Given the description of an element on the screen output the (x, y) to click on. 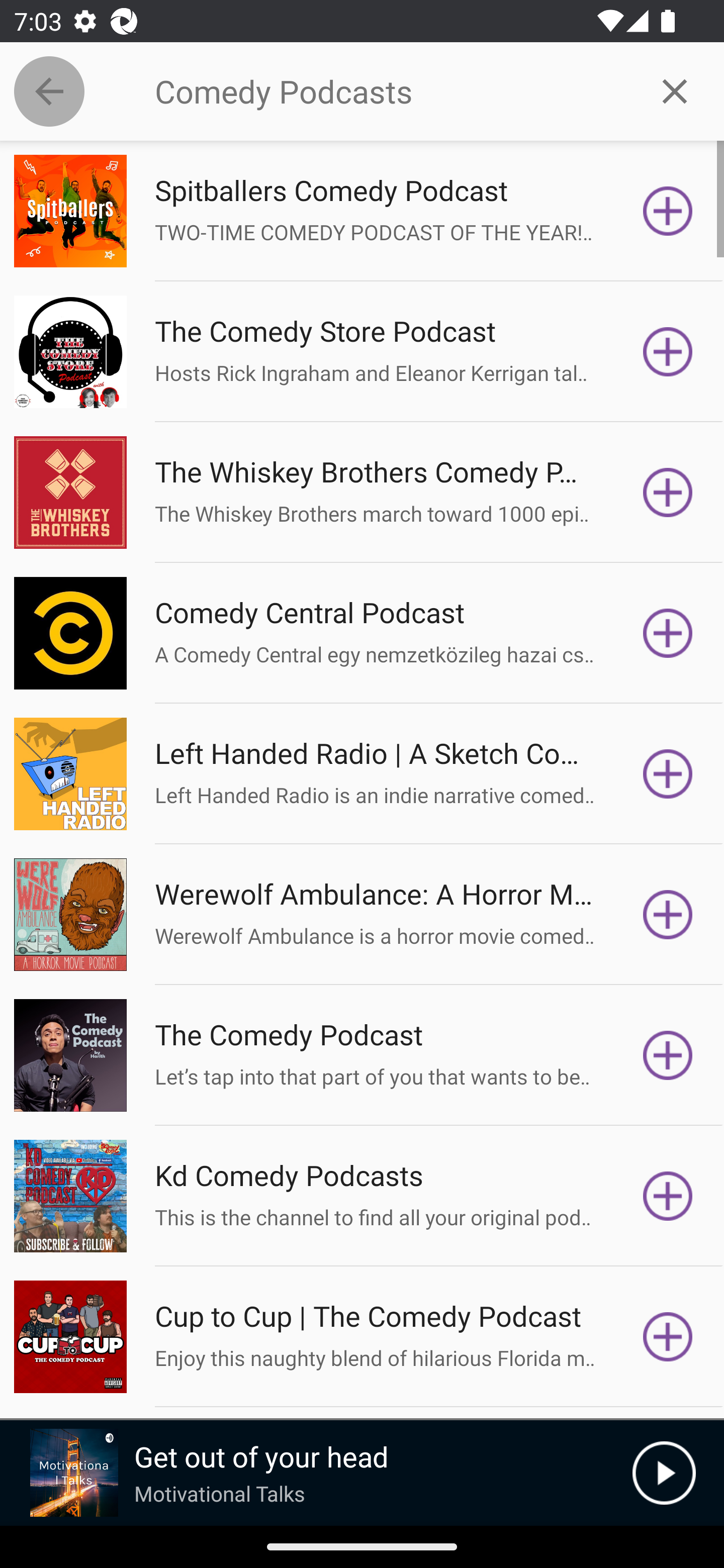
Collapse (49, 91)
Clear query (674, 90)
Comedy Podcasts (389, 91)
Subscribe (667, 211)
Subscribe (667, 350)
Subscribe (667, 491)
Subscribe (667, 633)
Subscribe (667, 773)
Subscribe (667, 913)
Subscribe (667, 1054)
Subscribe (667, 1195)
Subscribe (667, 1336)
Picture Get out of your head Motivational Talks (316, 1472)
Play (663, 1472)
